Given the description of an element on the screen output the (x, y) to click on. 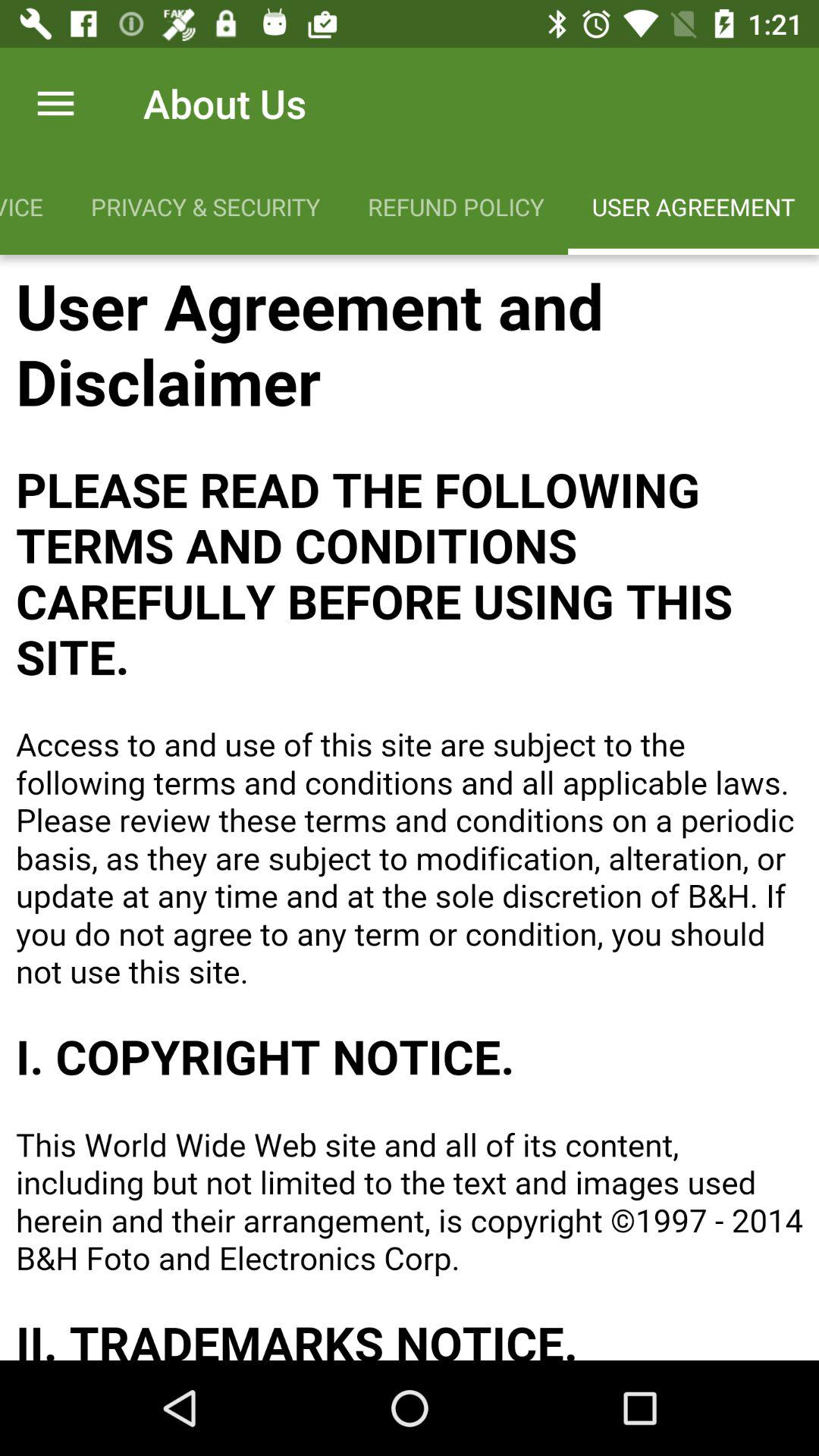
scroll up/down (409, 807)
